Given the description of an element on the screen output the (x, y) to click on. 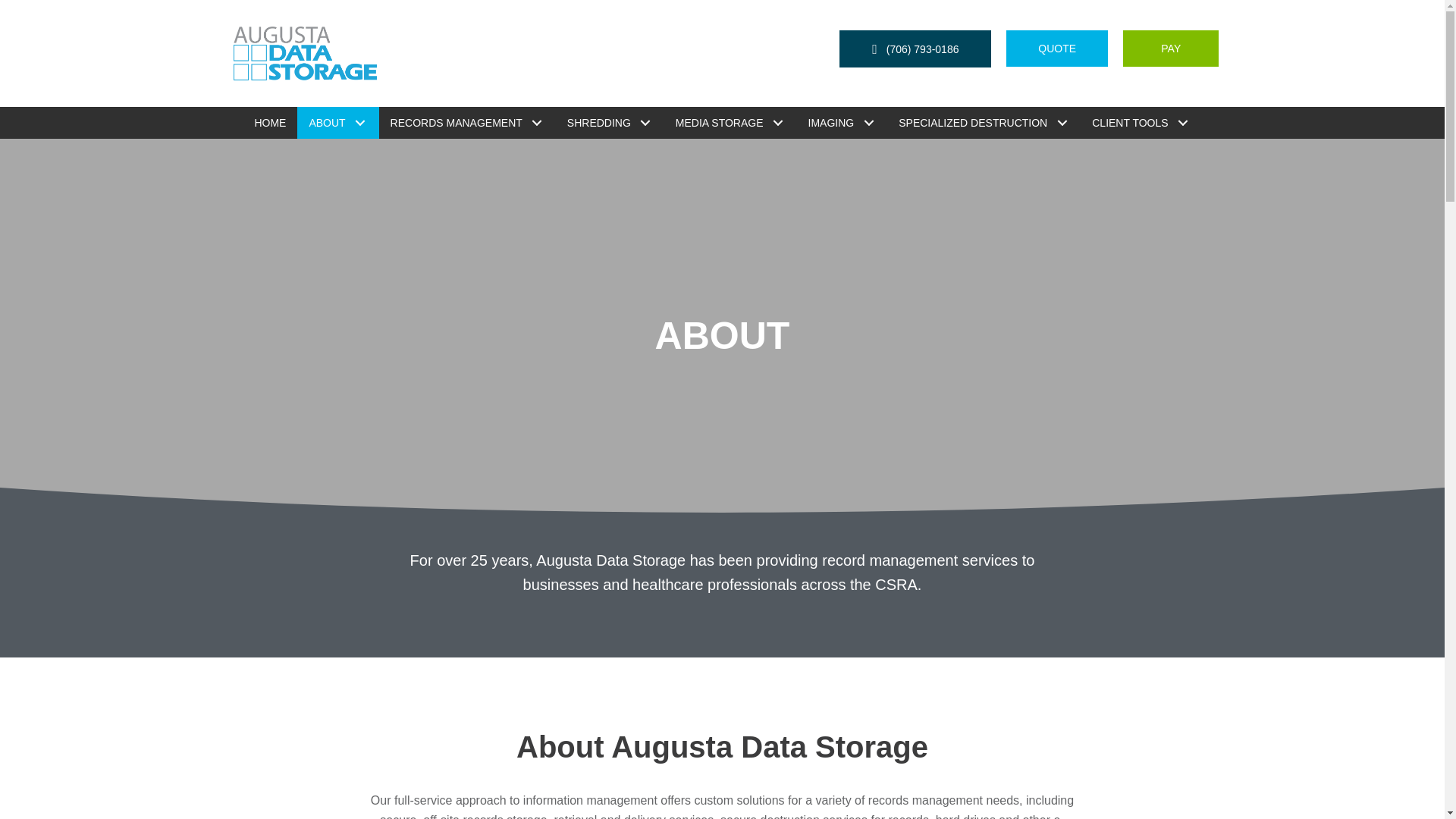
PAY (1170, 48)
